Given the description of an element on the screen output the (x, y) to click on. 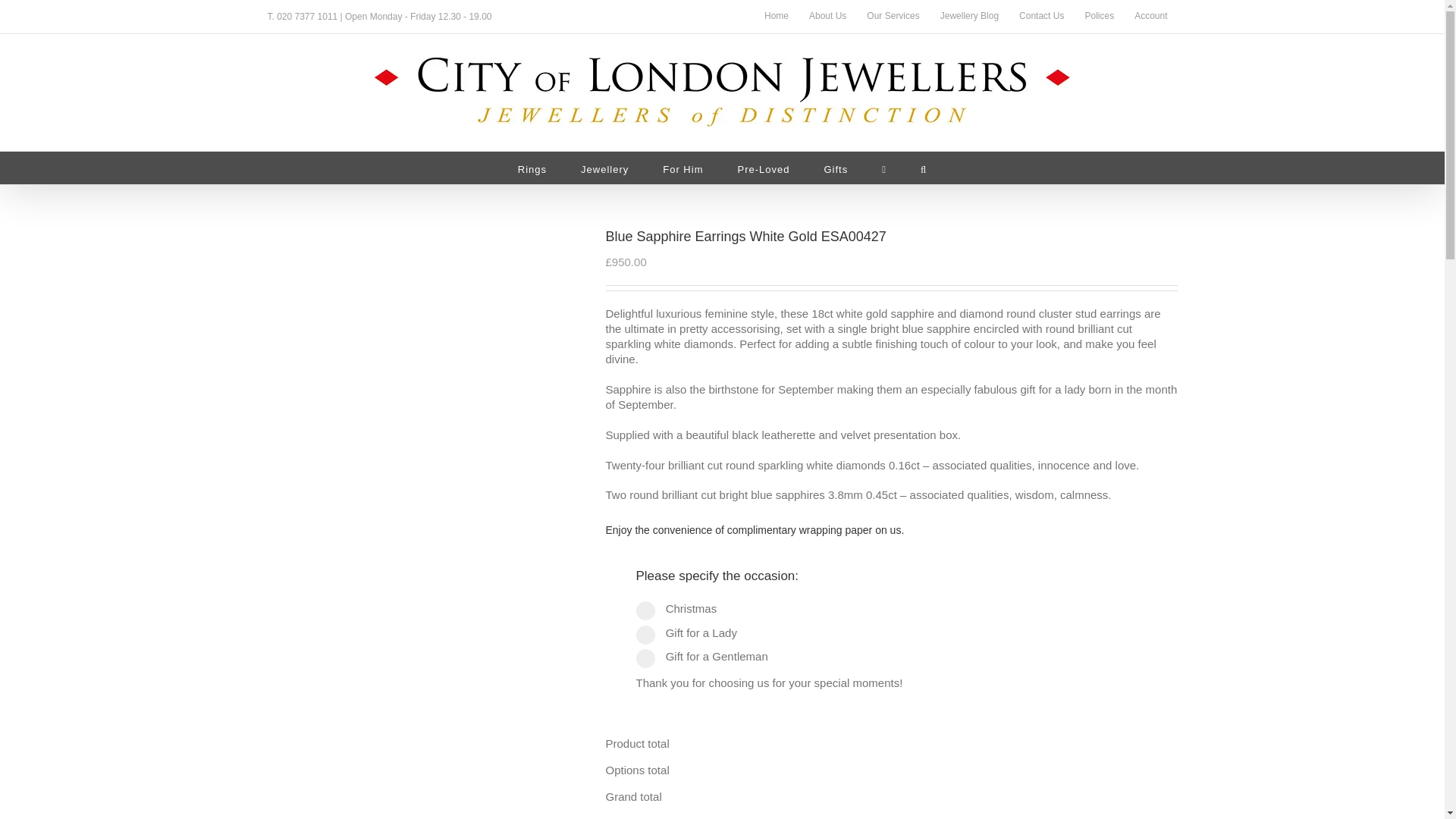
About Us (827, 16)
Jewellery (604, 167)
Our Services (892, 16)
Account (1150, 16)
Contact Us (1041, 16)
Polices (1099, 16)
Jewellery Blog (969, 16)
Home (775, 16)
